Given the description of an element on the screen output the (x, y) to click on. 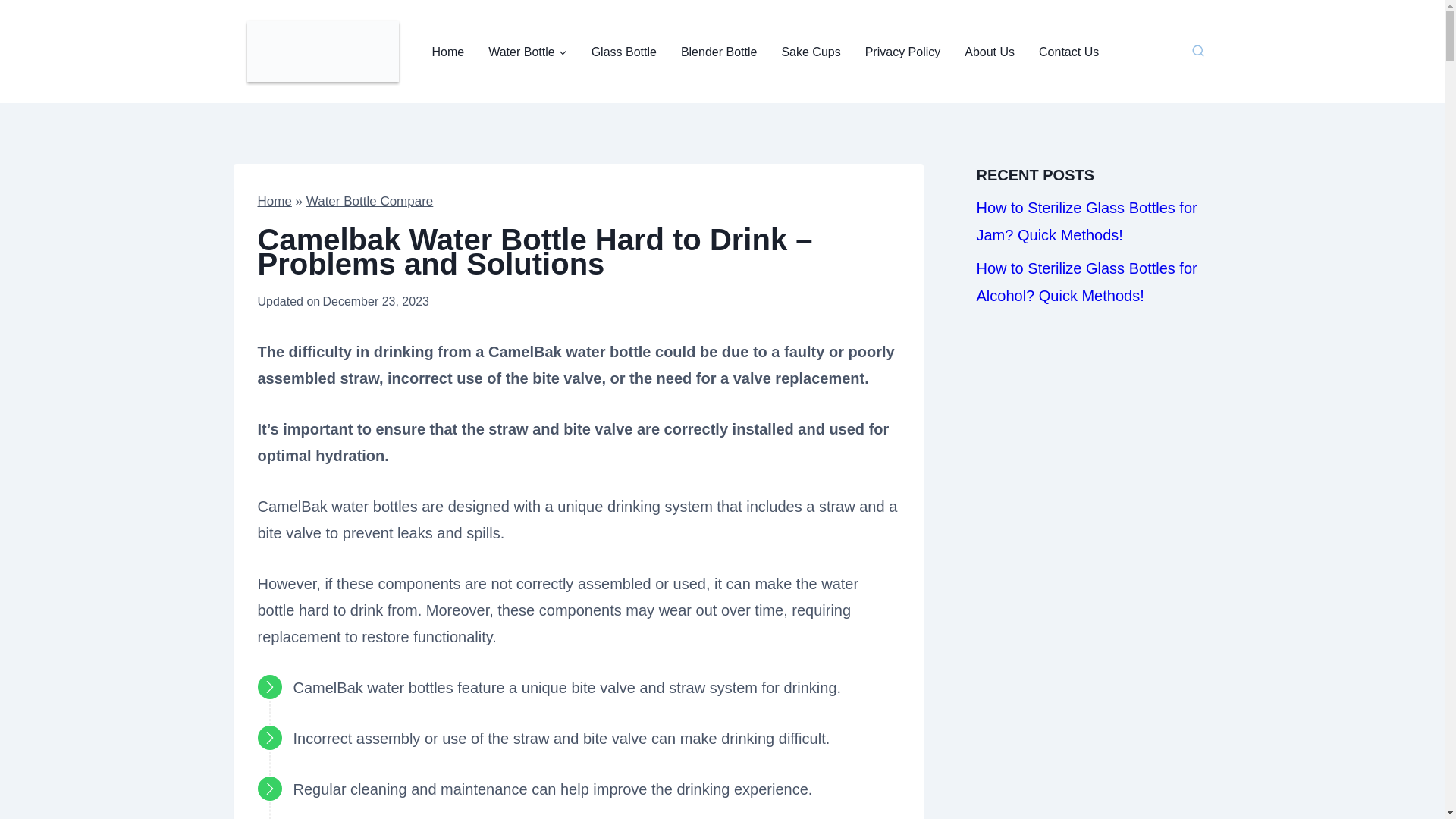
Contact Us (1068, 51)
Privacy Policy (903, 51)
About Us (989, 51)
Home (274, 201)
Water Bottle Compare (369, 201)
Water Bottle (527, 51)
Blender Bottle (719, 51)
Sake Cups (809, 51)
Home (448, 51)
Glass Bottle (623, 51)
